Given the description of an element on the screen output the (x, y) to click on. 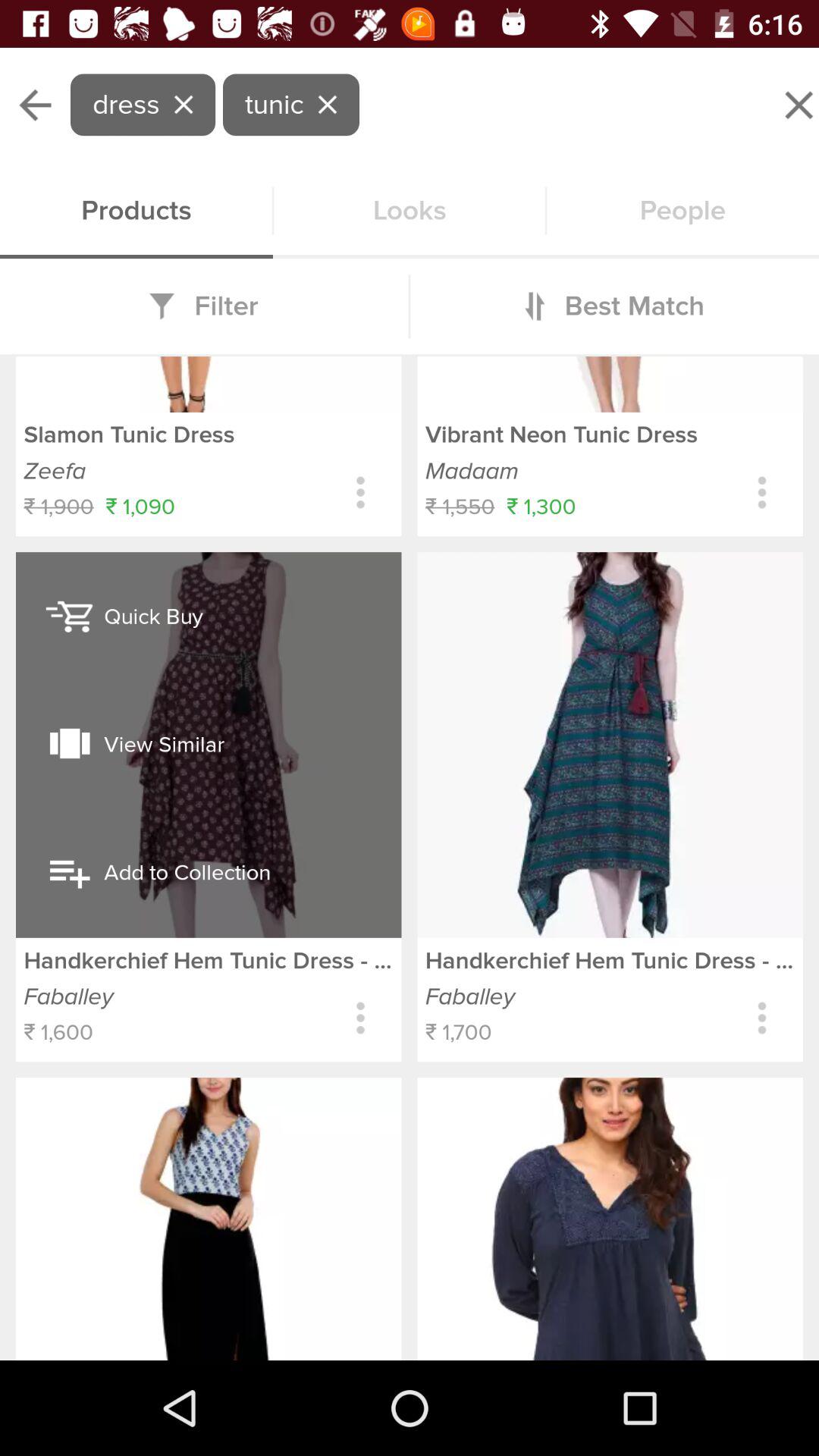
to view the product details (762, 492)
